Given the description of an element on the screen output the (x, y) to click on. 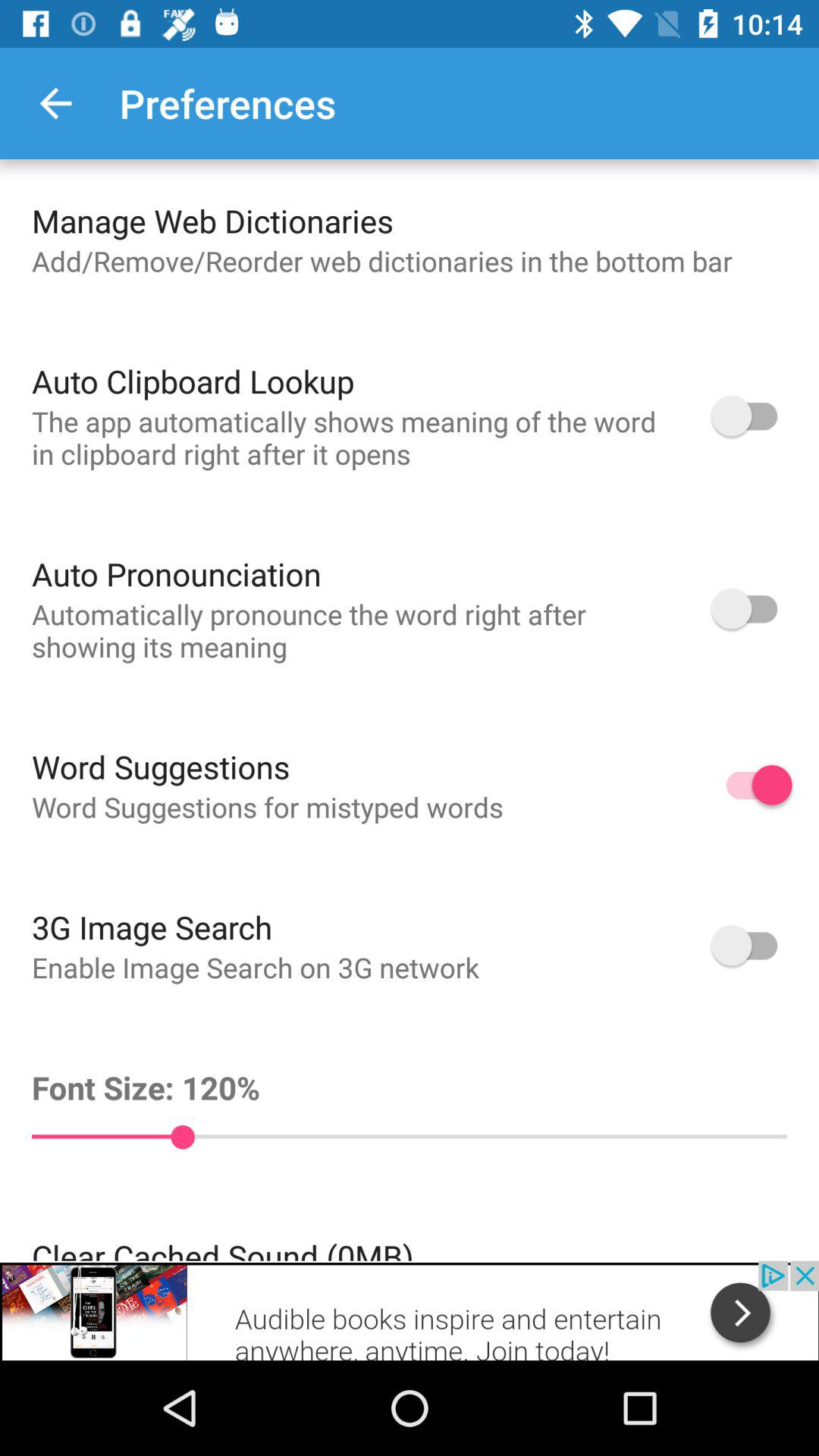
toggle on and off (751, 785)
